Given the description of an element on the screen output the (x, y) to click on. 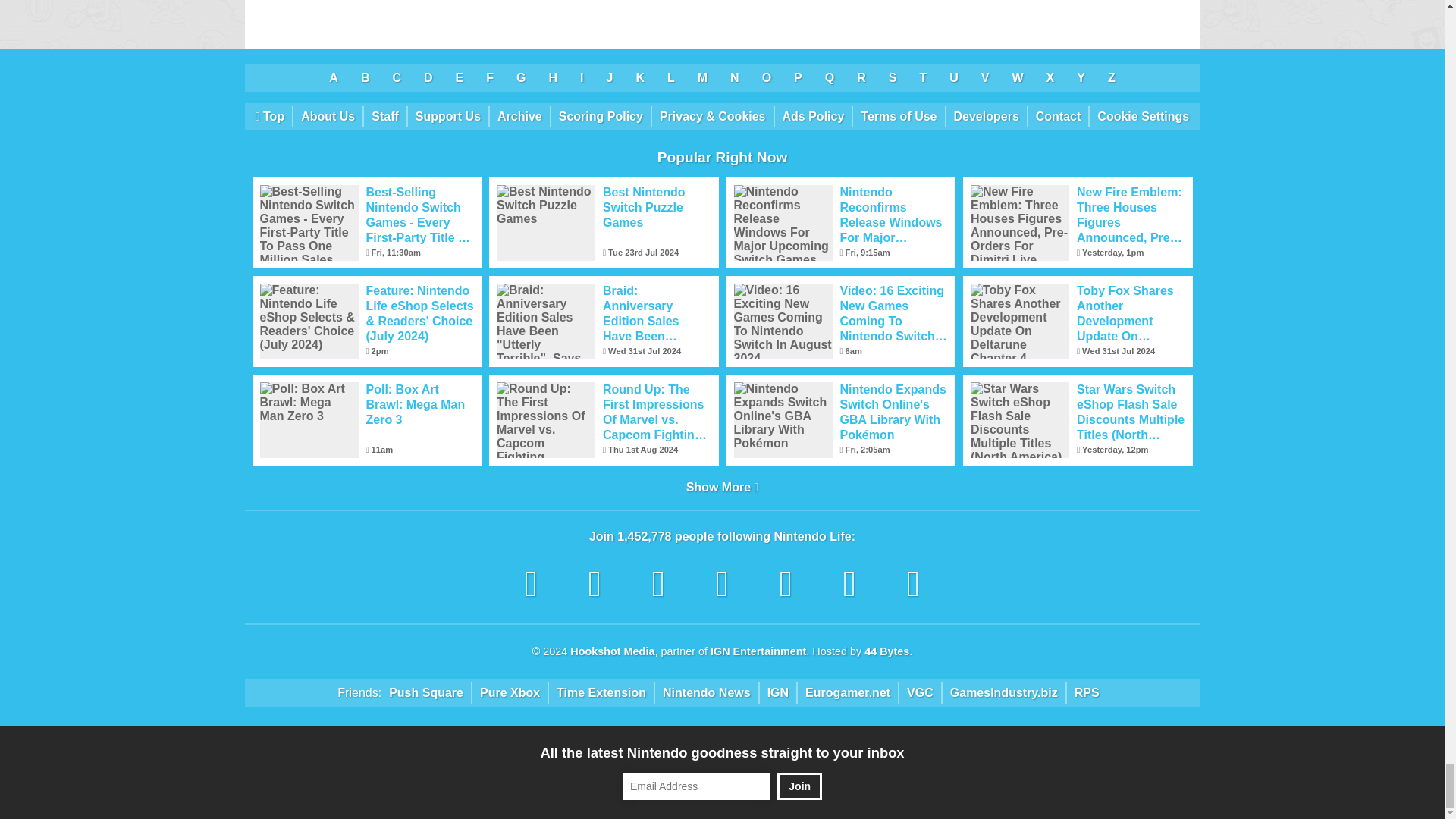
Join (799, 786)
